Given the description of an element on the screen output the (x, y) to click on. 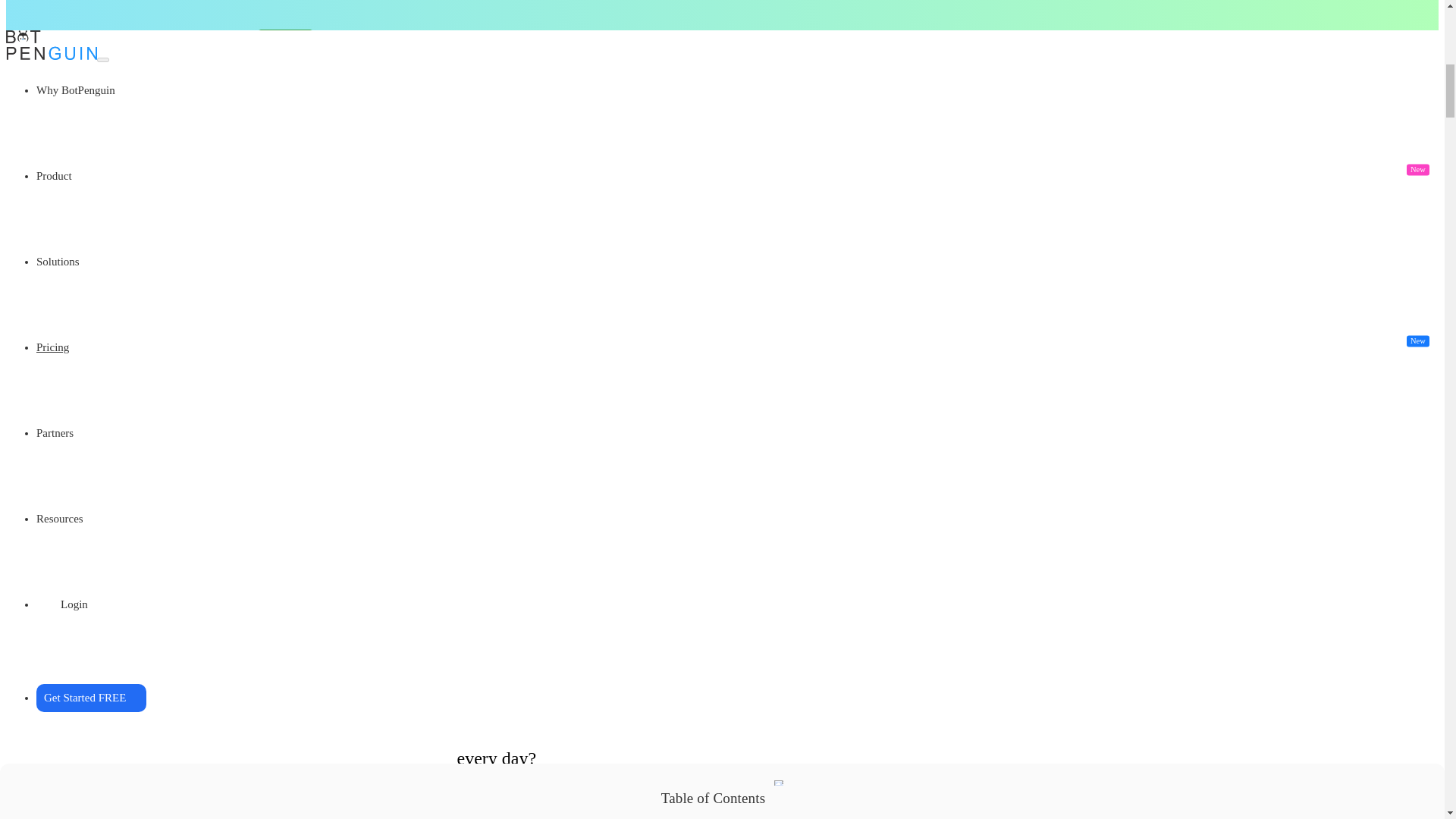
BotPenguin (465, 262)
